Given the description of an element on the screen output the (x, y) to click on. 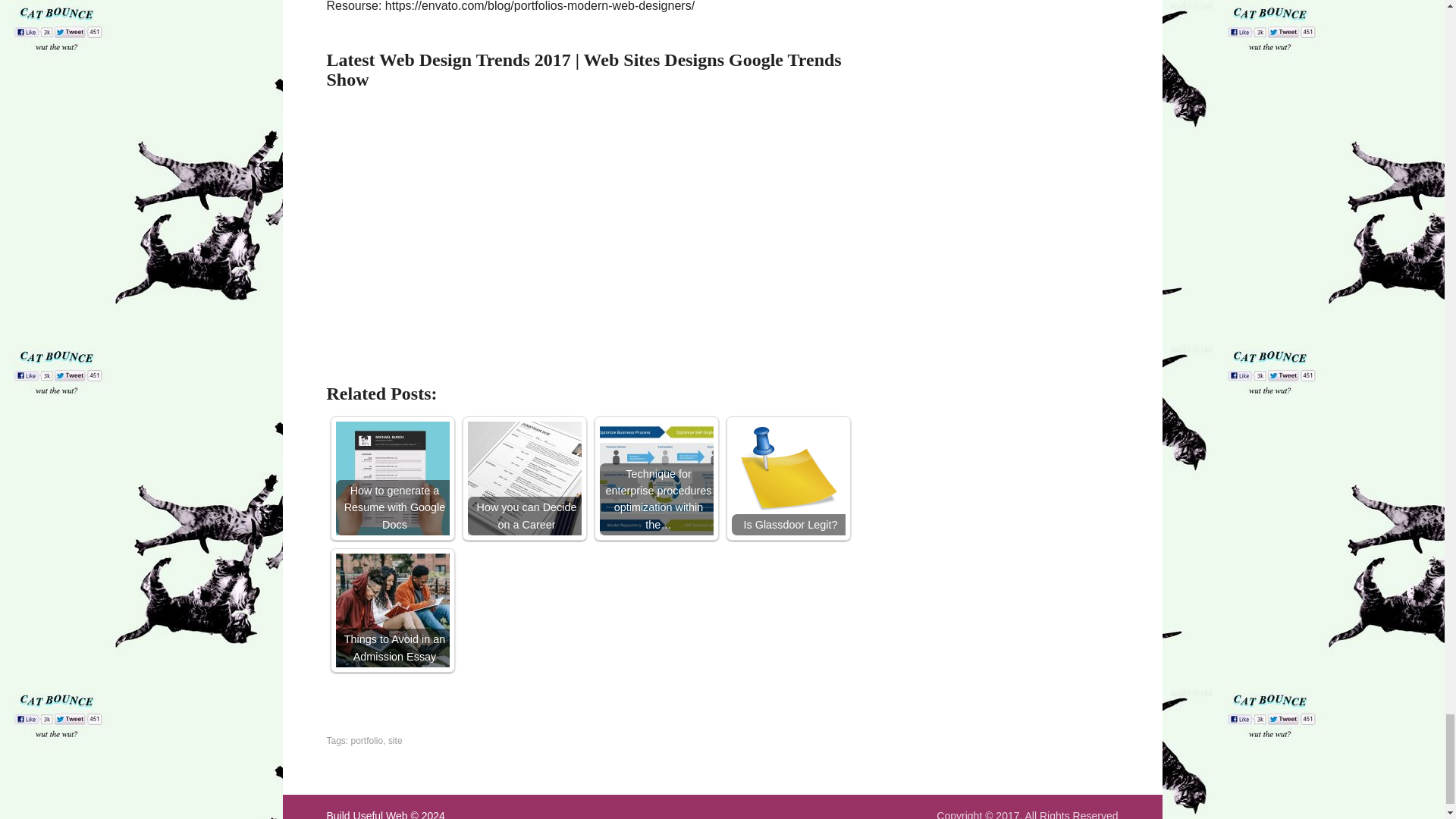
How you can Decide on a Career (523, 478)
Is Glassdoor Legit? (787, 478)
portfolio (367, 740)
Things to Avoid in an Admission Essay (391, 610)
How you can Decide on a Career (523, 478)
How to generate a Resume with Google Docs (391, 478)
site (395, 740)
Things to Avoid in an Admission Essay (391, 610)
Is Glassdoor Legit? (787, 478)
How to generate a Resume with Google Docs (391, 478)
